Given the description of an element on the screen output the (x, y) to click on. 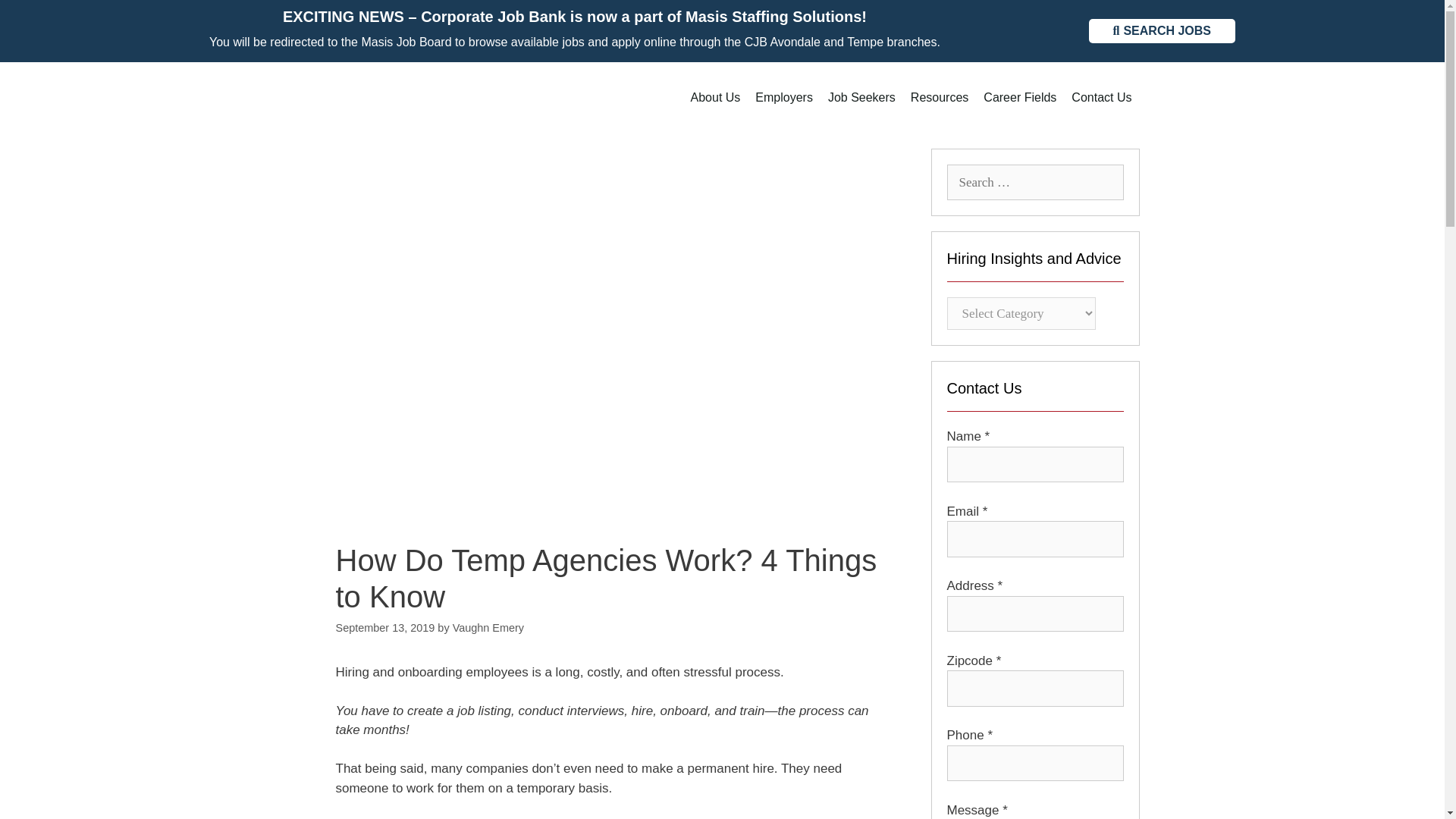
SEARCH JOBS (1161, 30)
Employers (784, 97)
About Us (715, 97)
Resources (938, 97)
Search for: (1034, 182)
Career Fields (1019, 97)
View all posts by Vaughn Emery (488, 627)
Job Seekers (861, 97)
Contact Us (1101, 97)
